Given the description of an element on the screen output the (x, y) to click on. 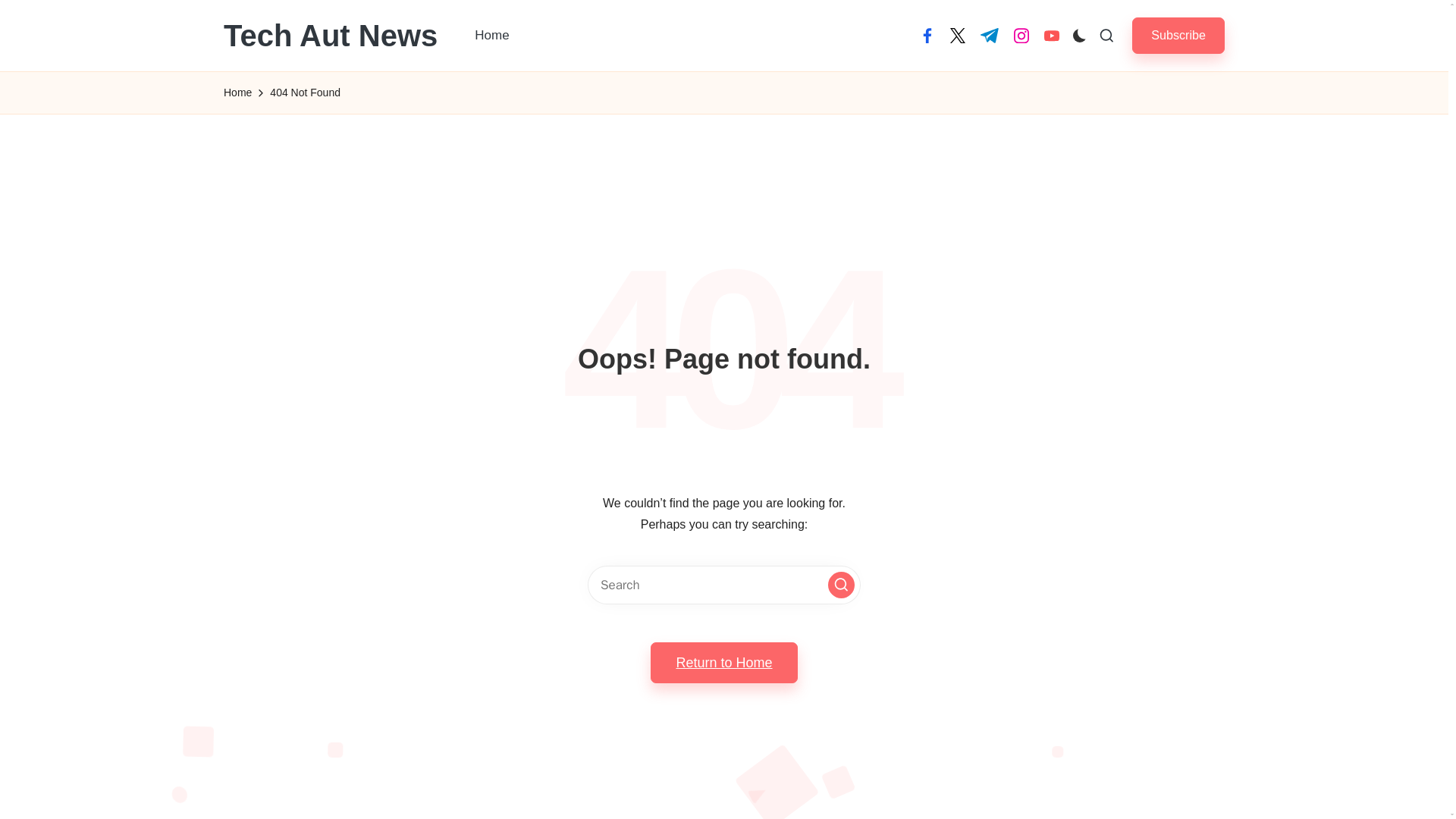
twitter.com (957, 35)
youtube.com (1051, 35)
Subscribe (1178, 35)
Return to Home (723, 662)
Tech Aut News (331, 35)
t.me (989, 35)
facebook.com (927, 35)
Home (237, 92)
instagram.com (1020, 35)
Home (491, 35)
